Given the description of an element on the screen output the (x, y) to click on. 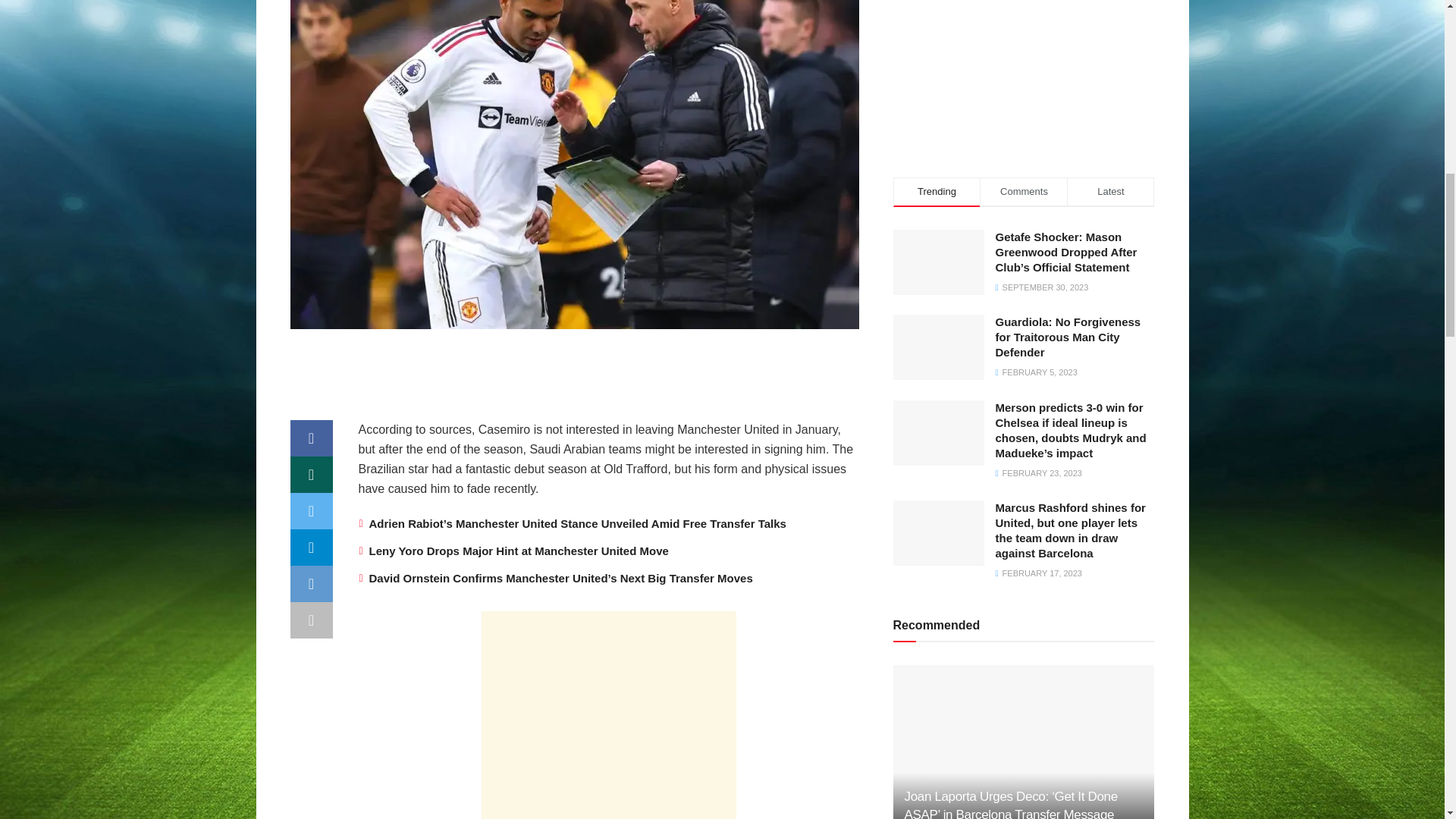
Advertisement (1023, 56)
